Given the description of an element on the screen output the (x, y) to click on. 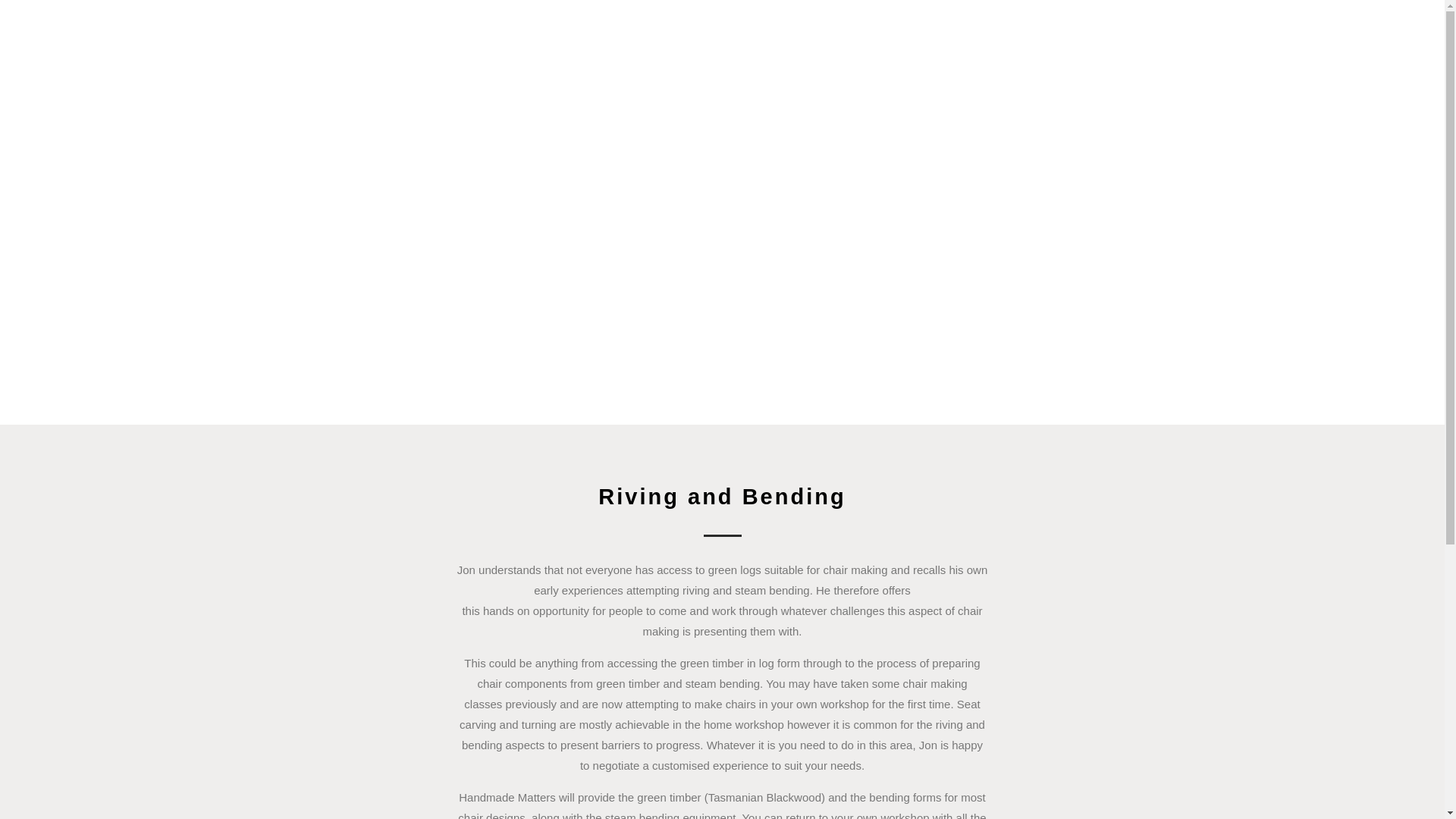
GALLERY (1327, 61)
CONTACT (1396, 61)
MAKE (986, 61)
COMMISSION (1062, 61)
MENTORSHIP (1248, 61)
